Given the description of an element on the screen output the (x, y) to click on. 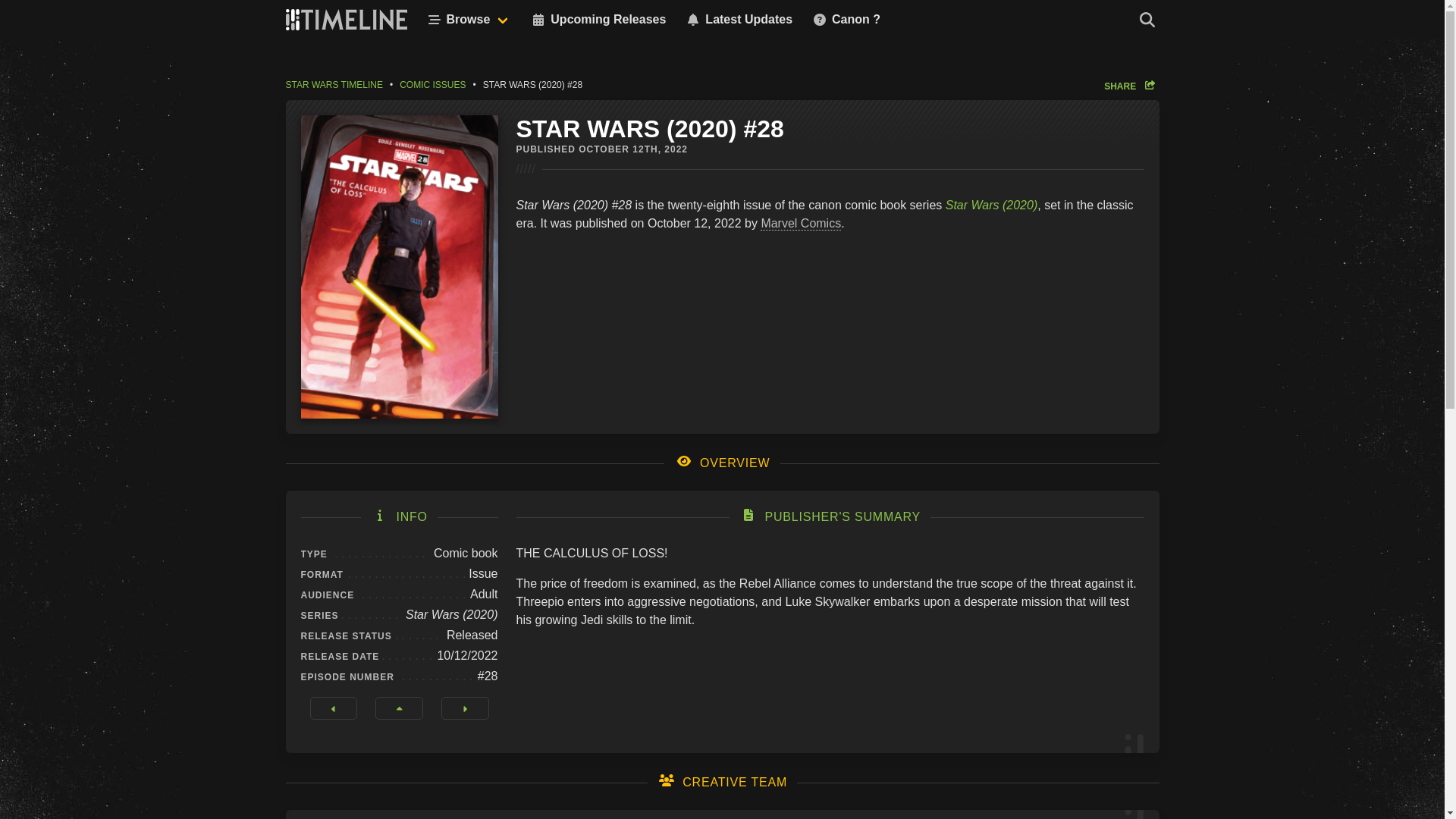
Canon ? (845, 19)
View Series (399, 707)
SHARE (1130, 85)
Upcoming Releases (597, 19)
Marvel Comics (800, 223)
Latest Updates (738, 19)
Next work in the serie (465, 707)
View Series (399, 707)
Next (465, 707)
STAR WARS TIMELINE (336, 84)
Previous (332, 707)
Previous work in the serie (332, 707)
Browse (466, 19)
COMIC ISSUES (432, 84)
